Given the description of an element on the screen output the (x, y) to click on. 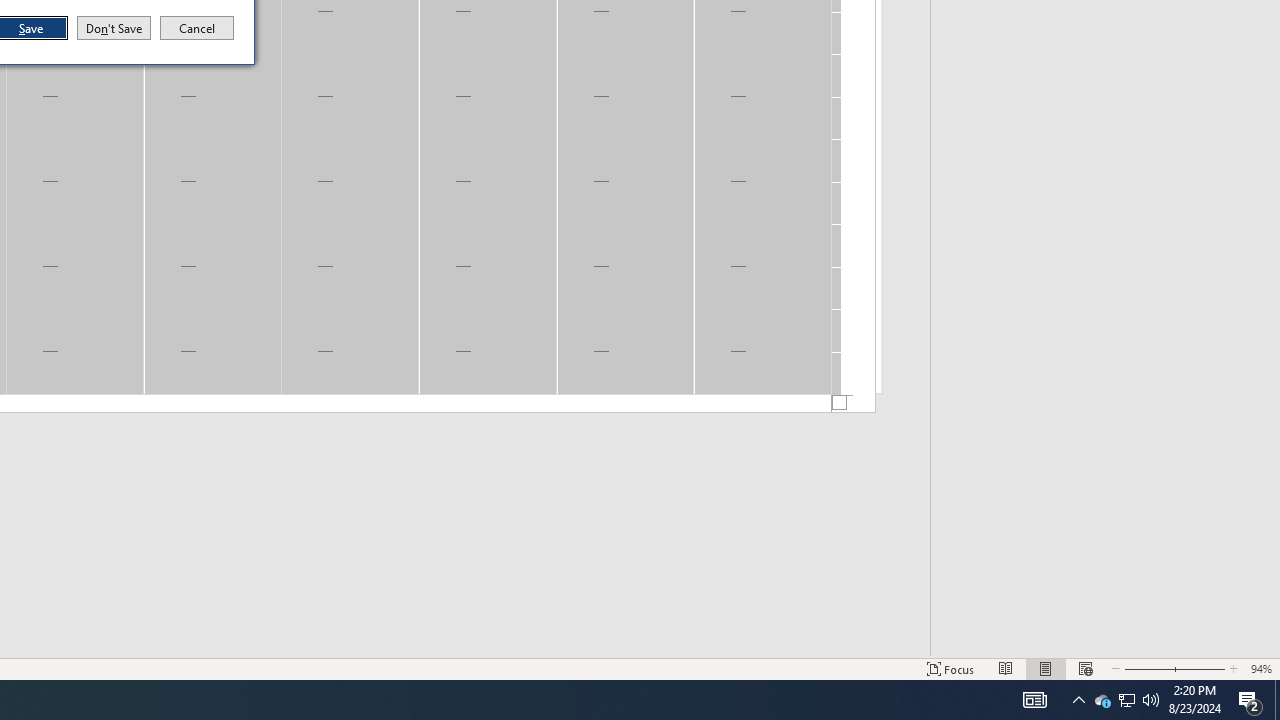
Don't Save (113, 27)
